Given the description of an element on the screen output the (x, y) to click on. 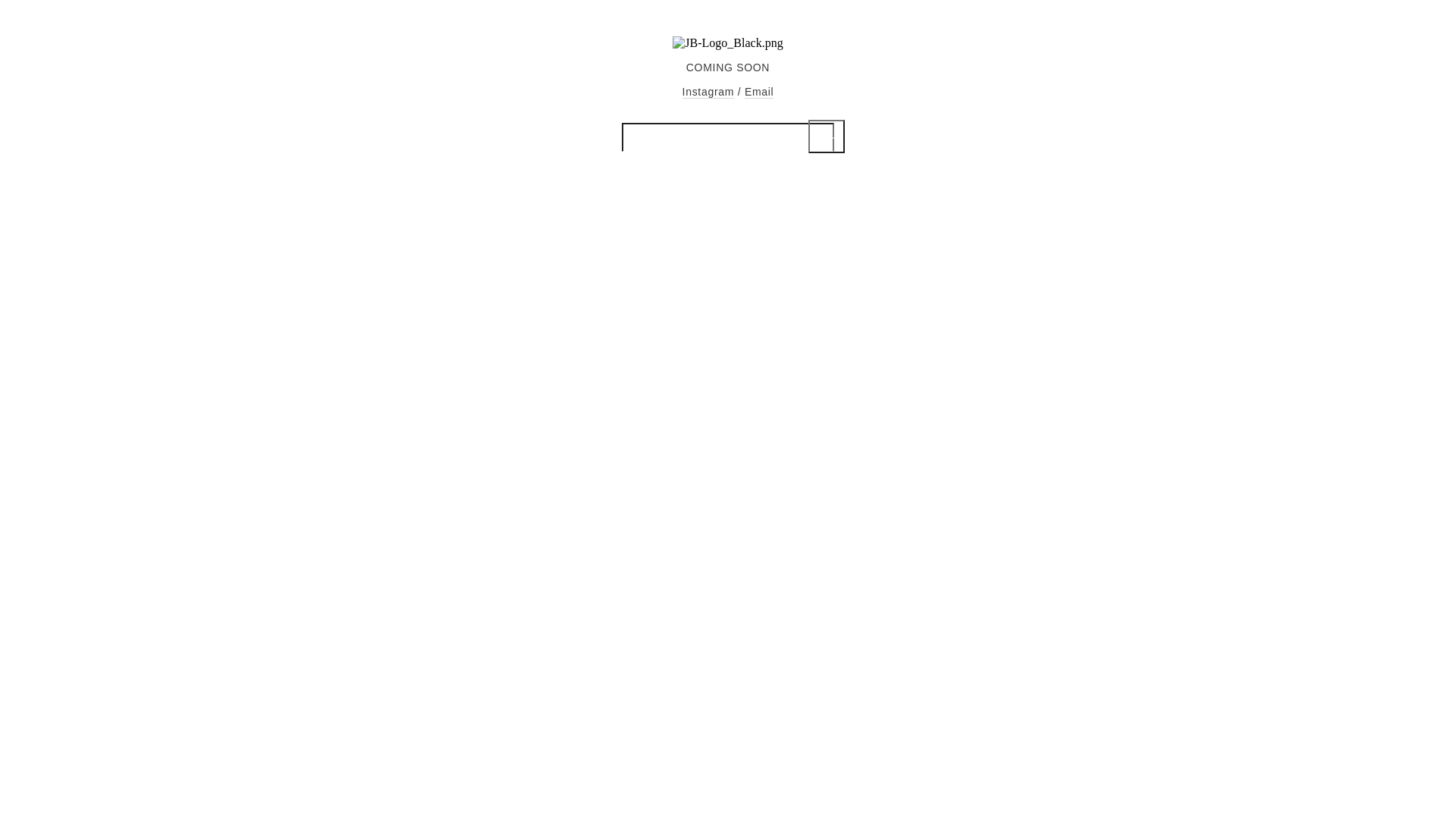
Email Element type: text (759, 91)
Instagram Element type: text (708, 91)
